Given the description of an element on the screen output the (x, y) to click on. 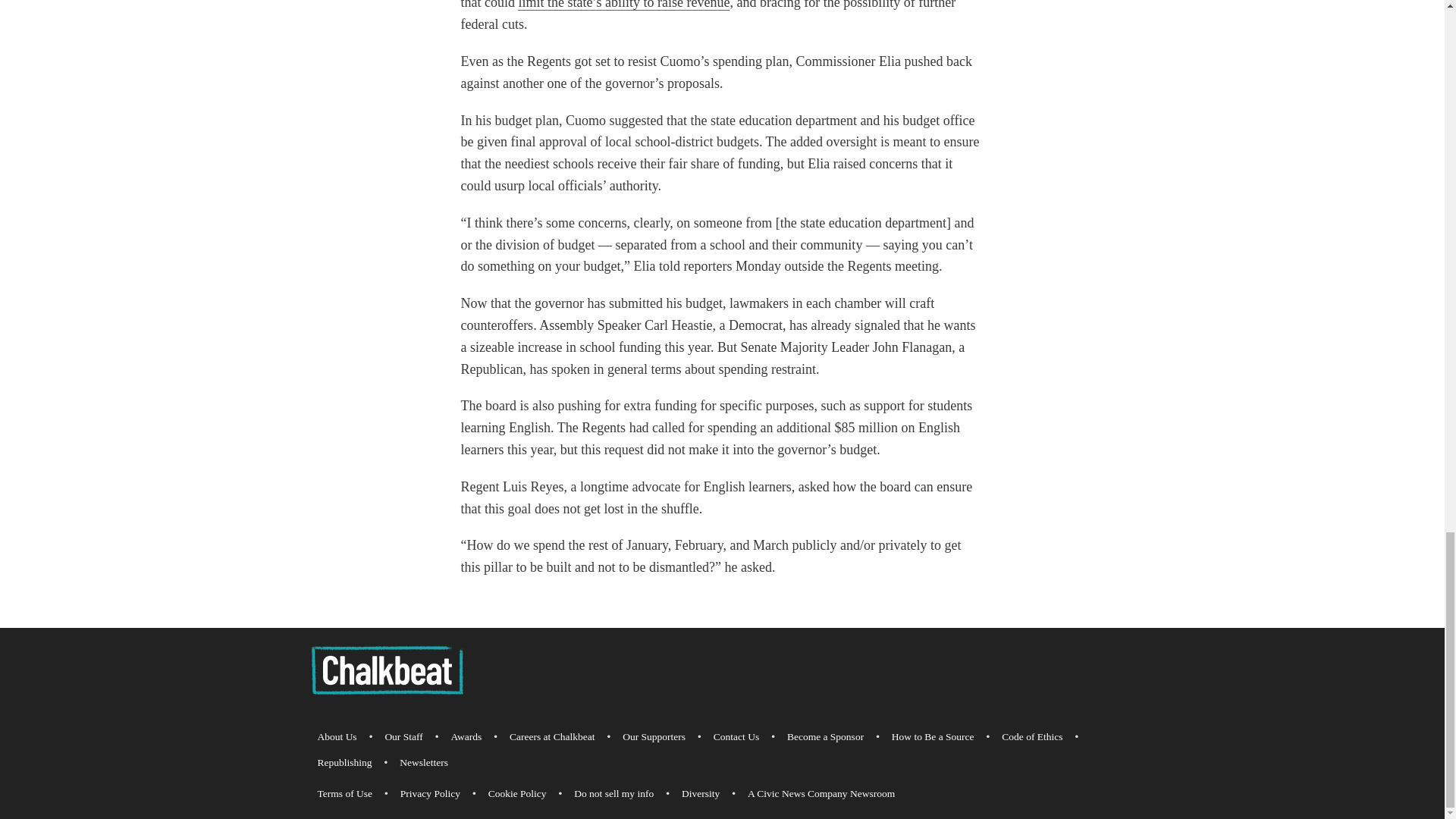
Newsletters (423, 762)
Diversity (700, 793)
Republishing (344, 762)
Code of Ethics (1031, 736)
Our Staff (403, 736)
Privacy Policy (429, 793)
Awards (465, 736)
A Civic News Company Newsroom (821, 793)
How to Be a Source (932, 736)
Become a Sponsor (824, 736)
About Us (336, 736)
Contact Us (736, 736)
Terms of Use (344, 793)
Careers at Chalkbeat (551, 736)
Cookie Policy (517, 793)
